Given the description of an element on the screen output the (x, y) to click on. 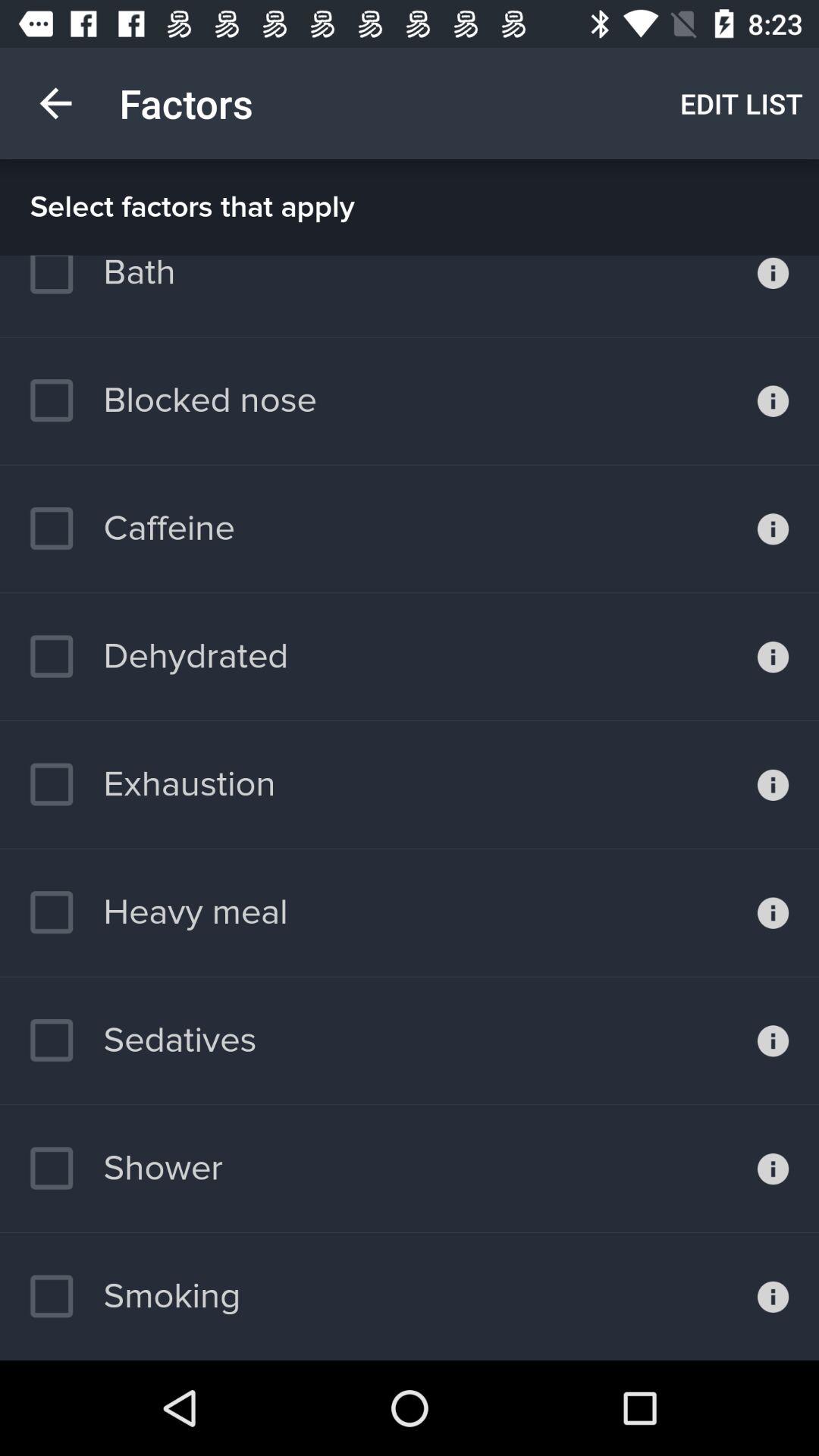
jump to the smoking icon (135, 1296)
